Given the description of an element on the screen output the (x, y) to click on. 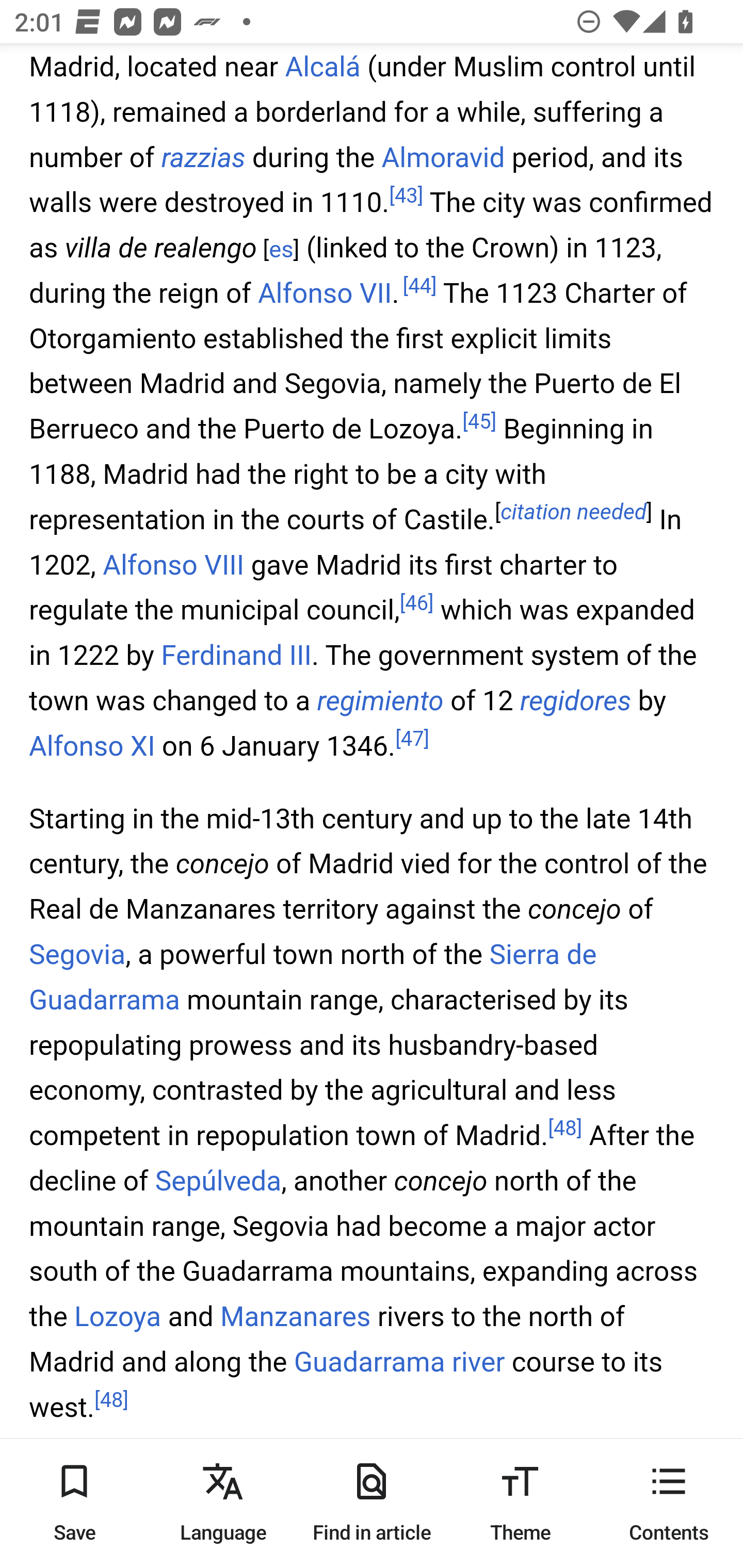
Alcalá (322, 67)
razzias (202, 158)
Almoravid (442, 158)
[] [ 43 ] (405, 195)
es (280, 250)
[] [ 44 ] (419, 286)
Alfonso VII (324, 292)
[] [ 45 ] (480, 423)
citation needed (573, 513)
Alfonso VIII (173, 565)
[] [ 46 ] (416, 603)
Ferdinand III (236, 655)
regimiento (379, 700)
regidores (574, 700)
[] [ 47 ] (412, 738)
Alfonso XI (92, 746)
Segovia (77, 955)
Sierra de Guadarrama (312, 978)
[] [ 48 ] (564, 1129)
Sepúlveda (217, 1180)
Lozoya (117, 1317)
Manzanares (295, 1317)
Guadarrama river (398, 1363)
[] [ 48 ] (111, 1399)
Save (74, 1502)
Language (222, 1502)
Find in article (371, 1502)
Theme (519, 1502)
Contents (668, 1502)
